Given the description of an element on the screen output the (x, y) to click on. 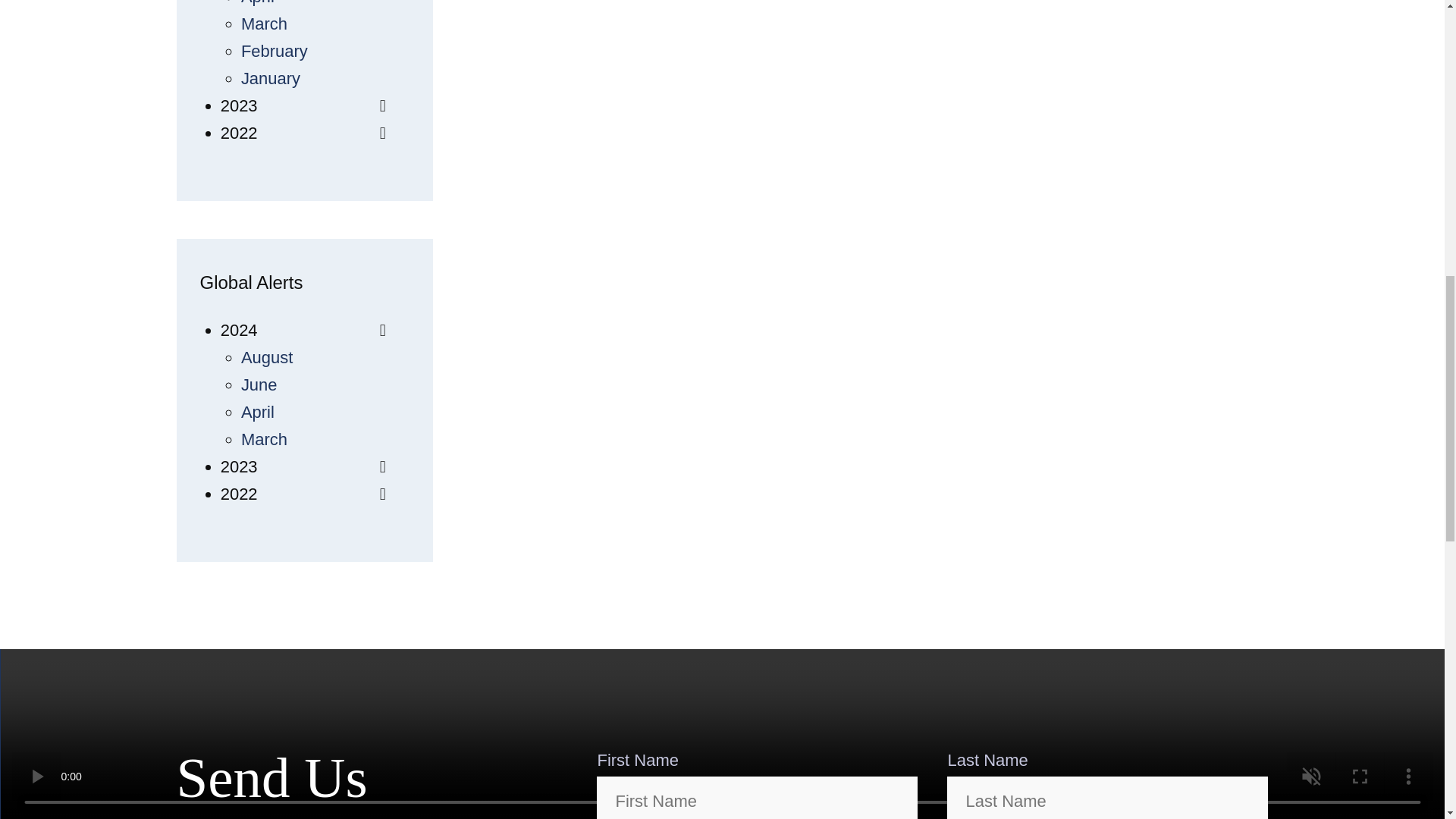
April (258, 2)
February (274, 50)
March (263, 23)
January (270, 77)
